Given the description of an element on the screen output the (x, y) to click on. 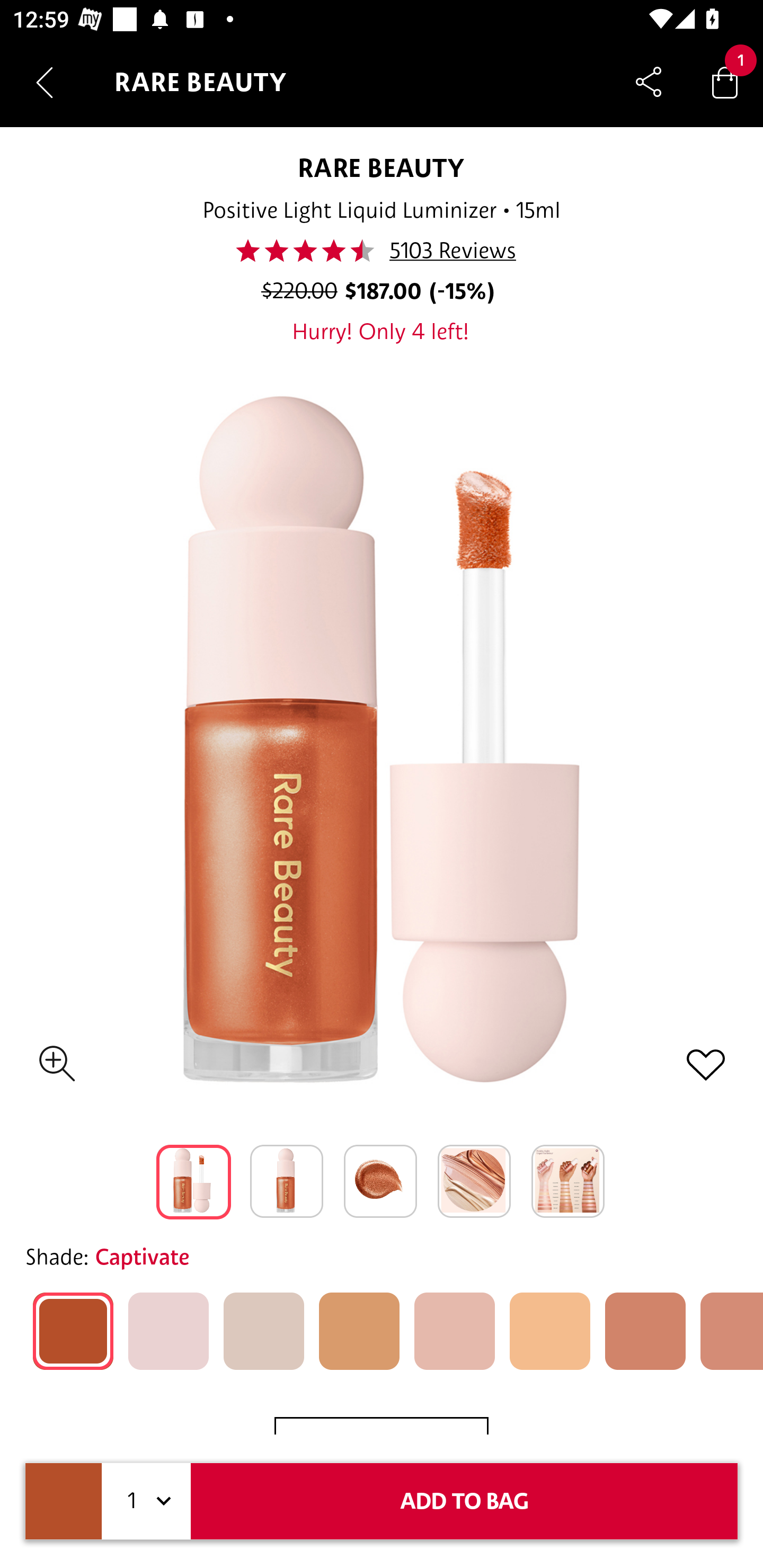
Navigate up (44, 82)
Share (648, 81)
Bag (724, 81)
RARE BEAUTY (381, 167)
45.0 5103 Reviews (380, 250)
1 (145, 1500)
ADD TO BAG (463, 1500)
